Given the description of an element on the screen output the (x, y) to click on. 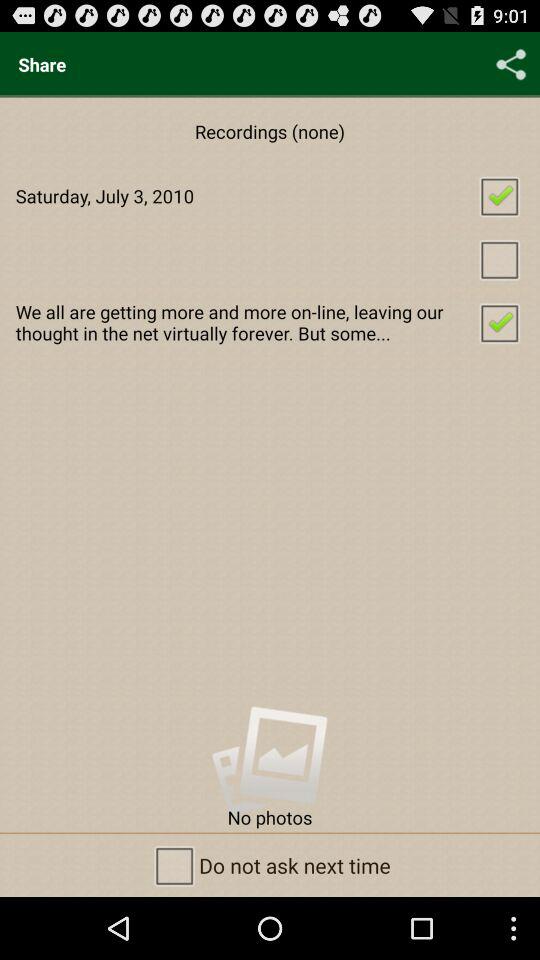
share the content of the page (511, 64)
